Given the description of an element on the screen output the (x, y) to click on. 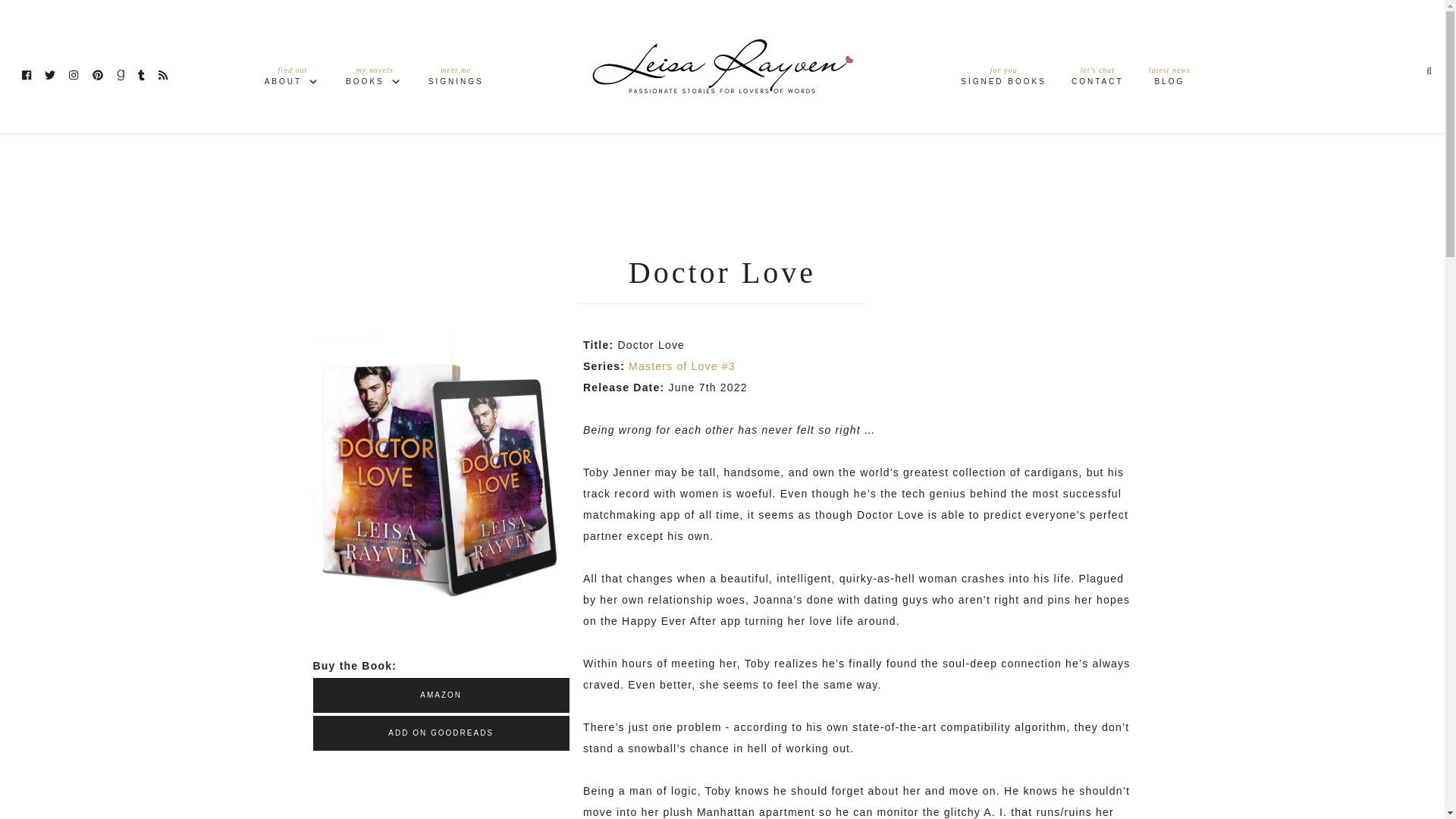
AMAZON (441, 695)
Leisa Rayven (1003, 78)
ADD ON GOODREADS (722, 66)
